Given the description of an element on the screen output the (x, y) to click on. 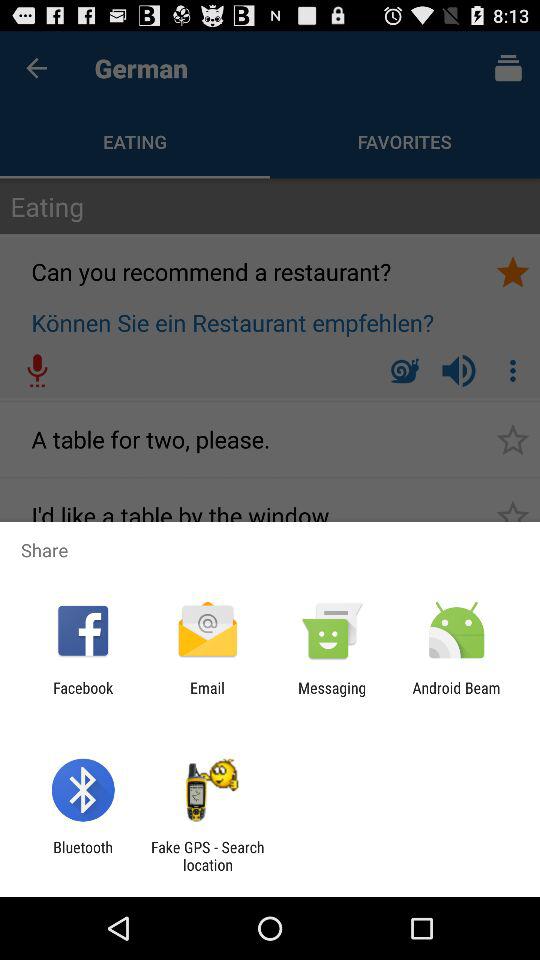
select the item to the right of the bluetooth app (207, 856)
